Given the description of an element on the screen output the (x, y) to click on. 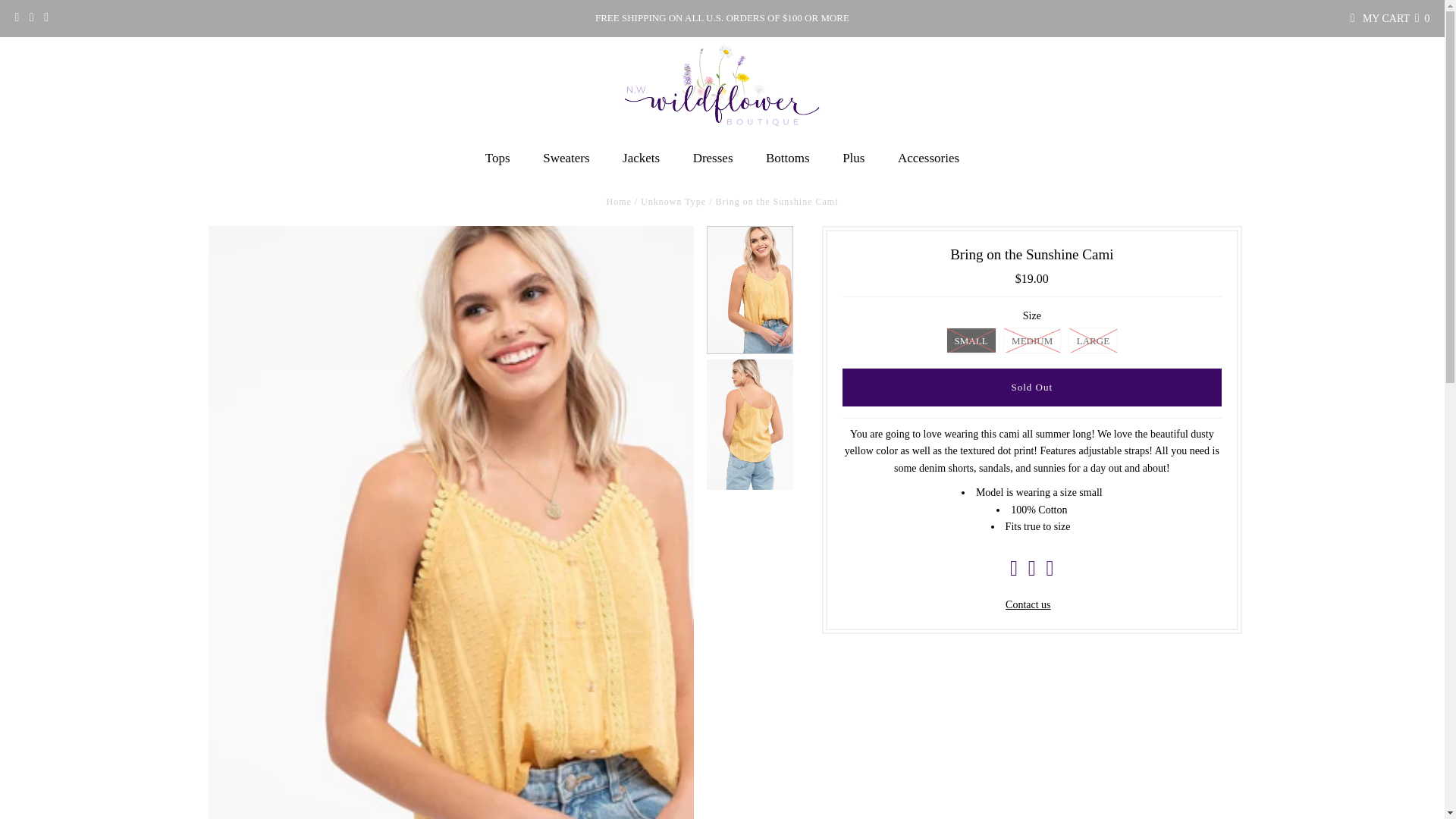
Contact us (1028, 604)
Tops (497, 158)
Dresses (713, 158)
Plus (853, 158)
Home (619, 201)
MY CART    0 (1395, 18)
Share on Pinterest (1048, 572)
Bottoms (788, 158)
Sold Out (1032, 387)
Sweaters (565, 158)
Home (619, 201)
Sold Out (1032, 387)
Share on Twitter (1031, 572)
Accessories (928, 158)
Jackets (641, 158)
